Given the description of an element on the screen output the (x, y) to click on. 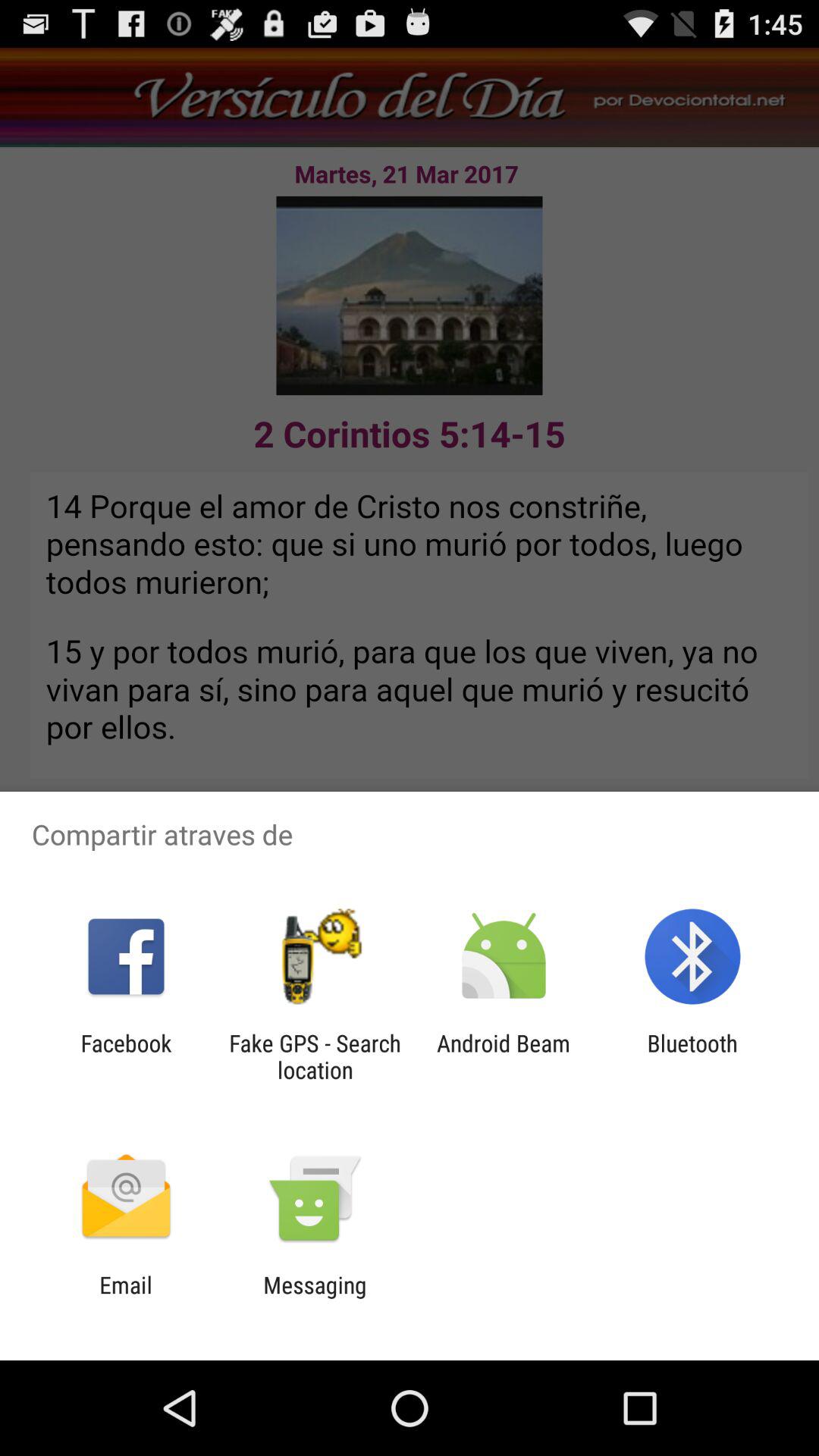
open facebook item (125, 1056)
